Given the description of an element on the screen output the (x, y) to click on. 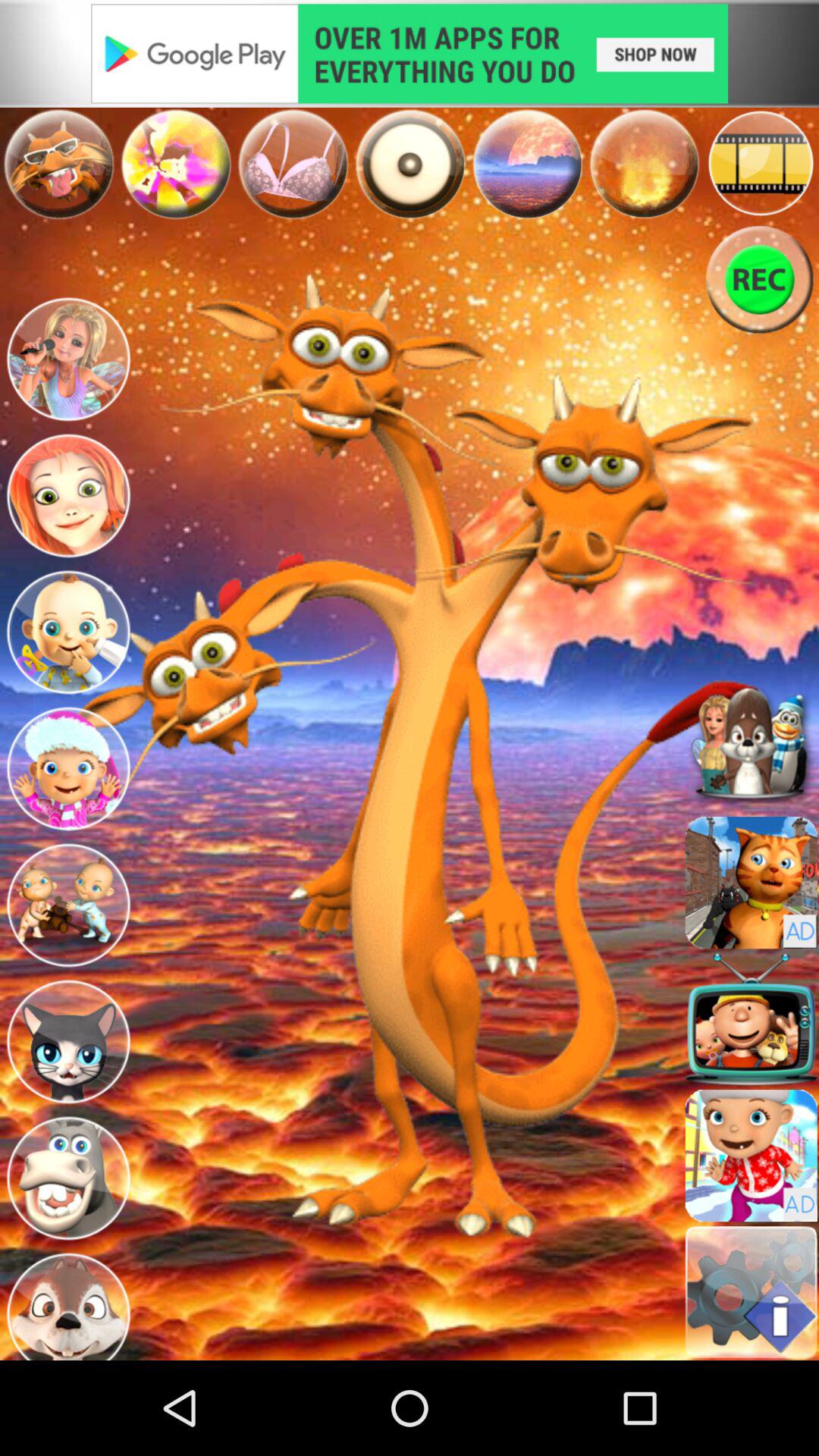
go to game (751, 1155)
